Given the description of an element on the screen output the (x, y) to click on. 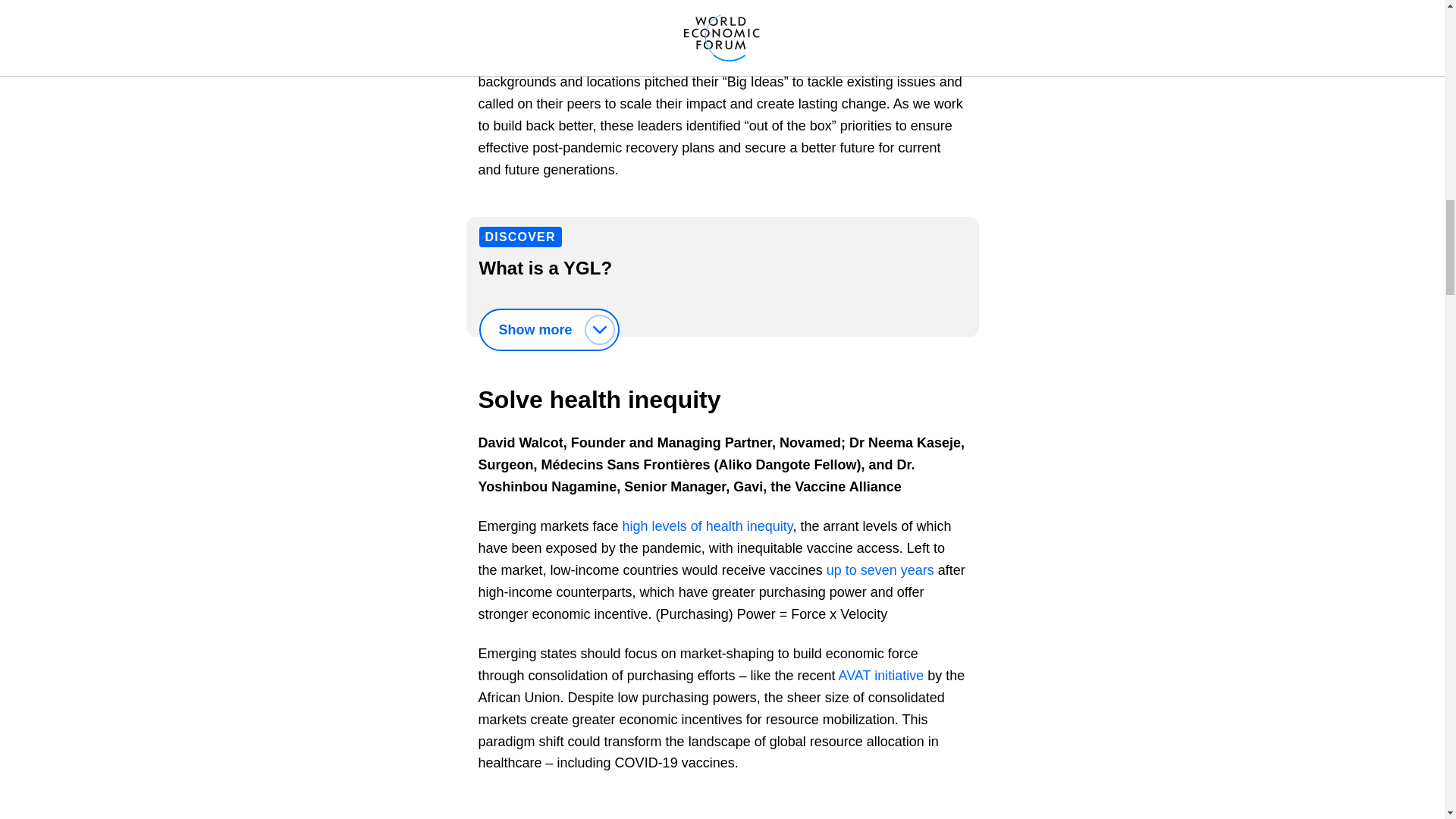
diverse cohort (520, 2)
high levels of health inequity (708, 525)
Show more (549, 329)
up to seven years (880, 570)
AVAT initiative (880, 675)
